Given the description of an element on the screen output the (x, y) to click on. 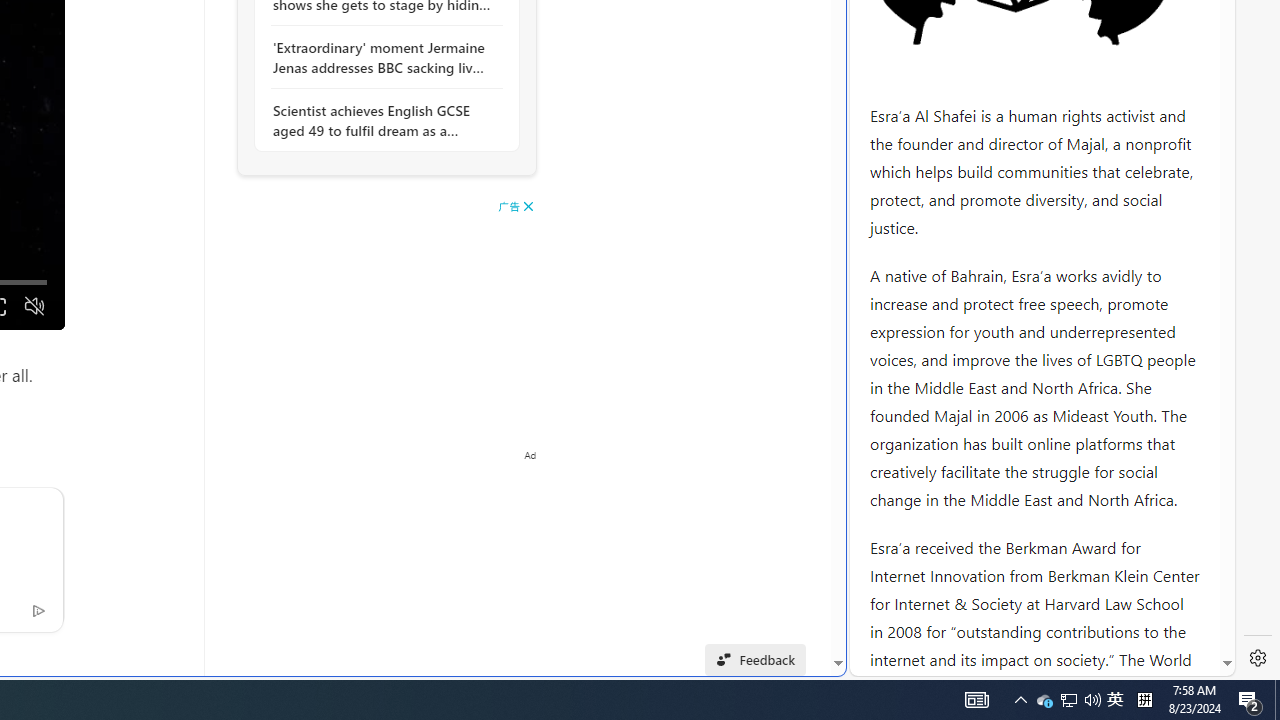
google_privacy_policy_zh-CN.pdf (687, 482)
